Given the description of an element on the screen output the (x, y) to click on. 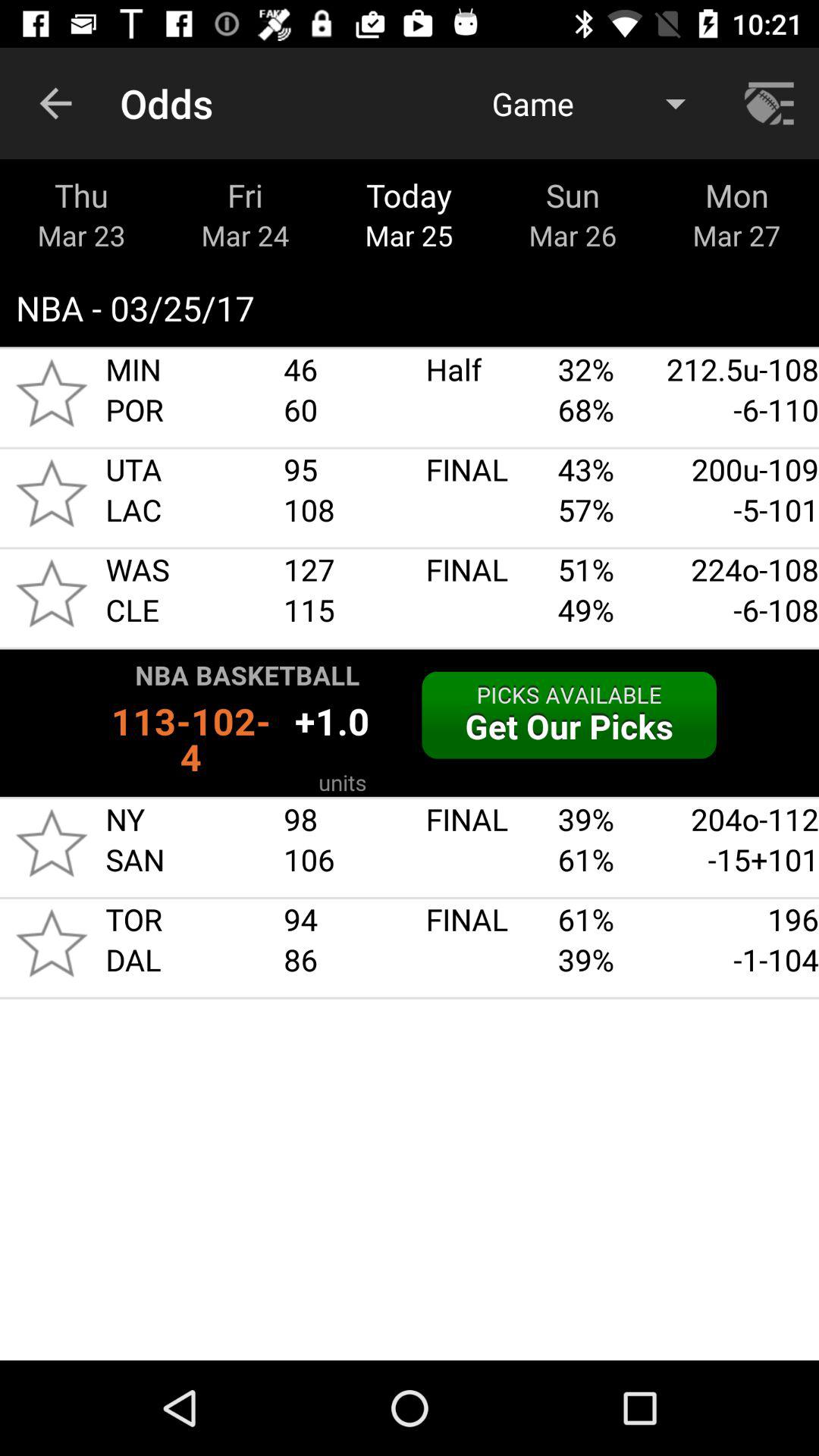
open menu (771, 103)
